Given the description of an element on the screen output the (x, y) to click on. 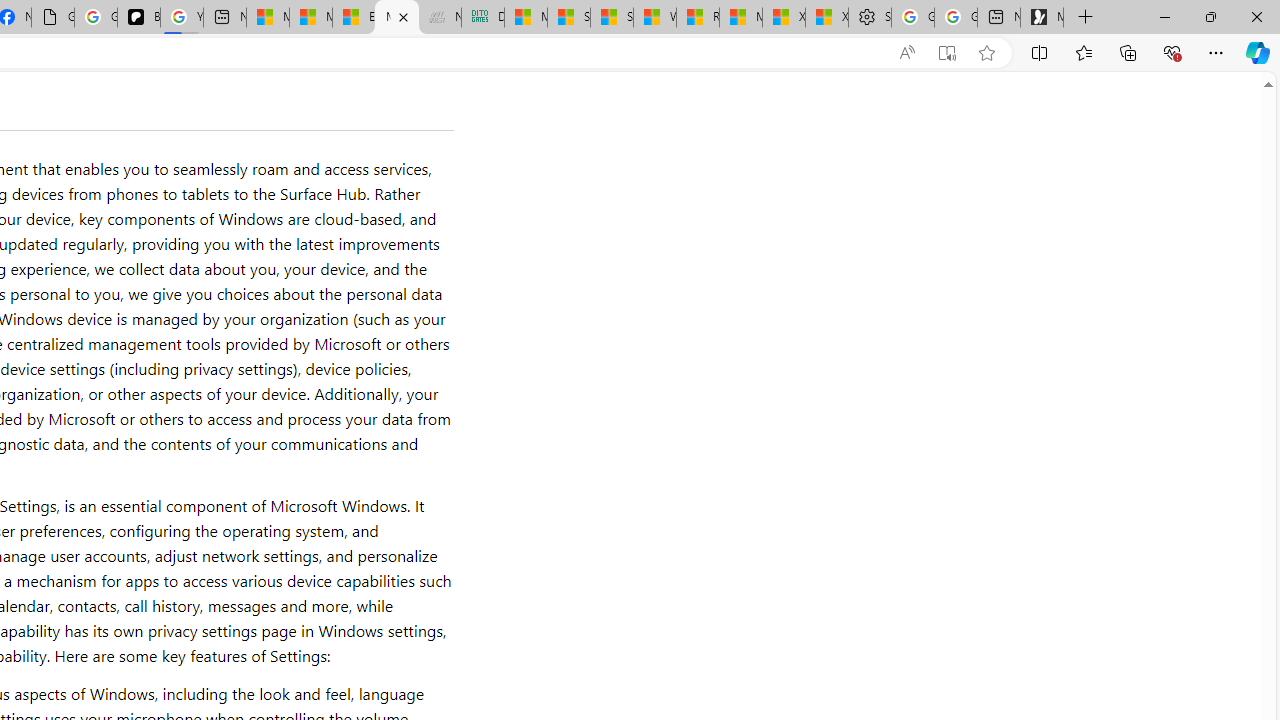
Entertainment - MSN (353, 17)
R******* | Trusted Community Engagement and Contributions (698, 17)
